Given the description of an element on the screen output the (x, y) to click on. 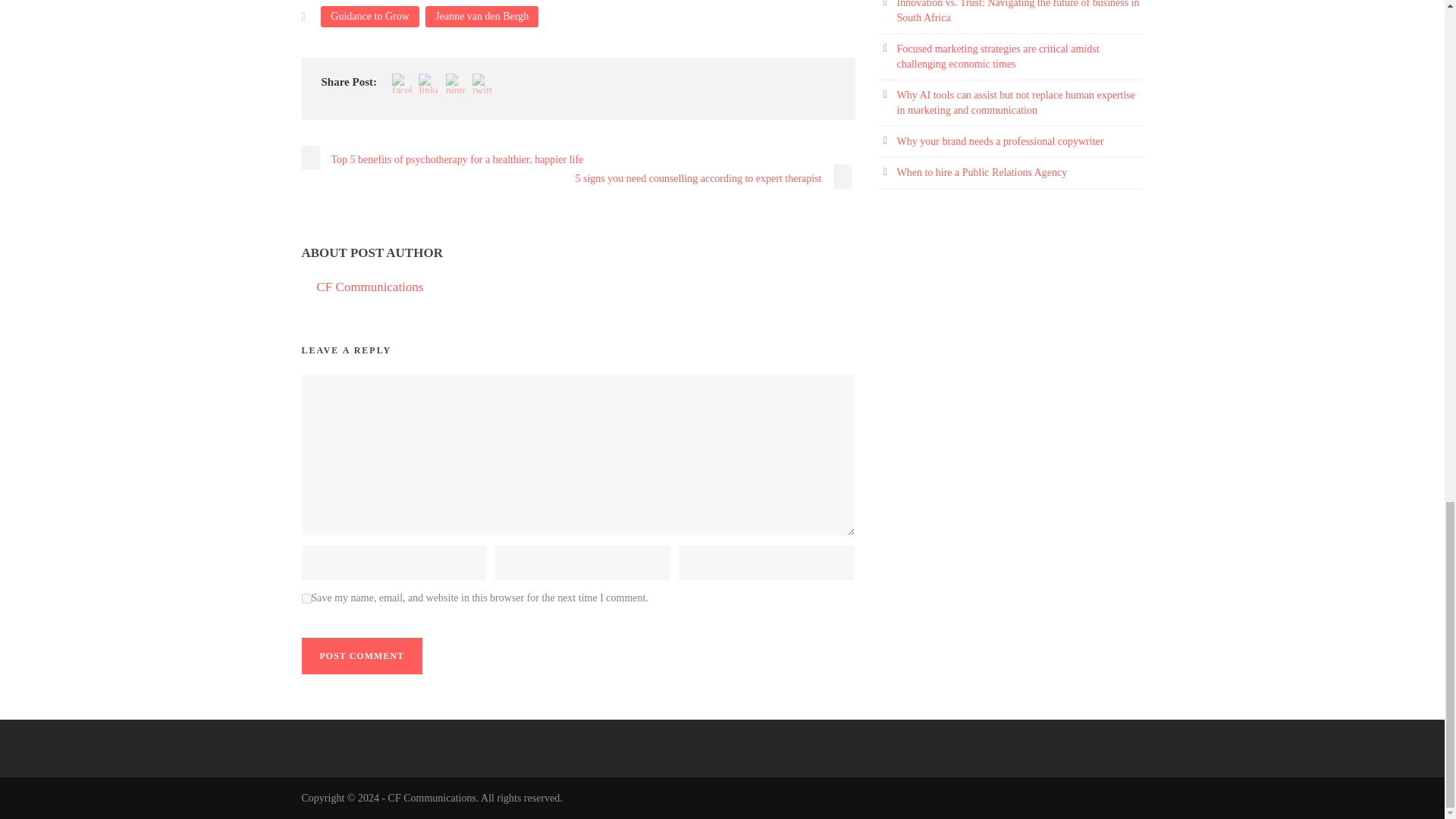
Posts by CF Communications (370, 287)
Guidance to Grow (369, 16)
Post Comment (361, 656)
yes (306, 598)
